Given the description of an element on the screen output the (x, y) to click on. 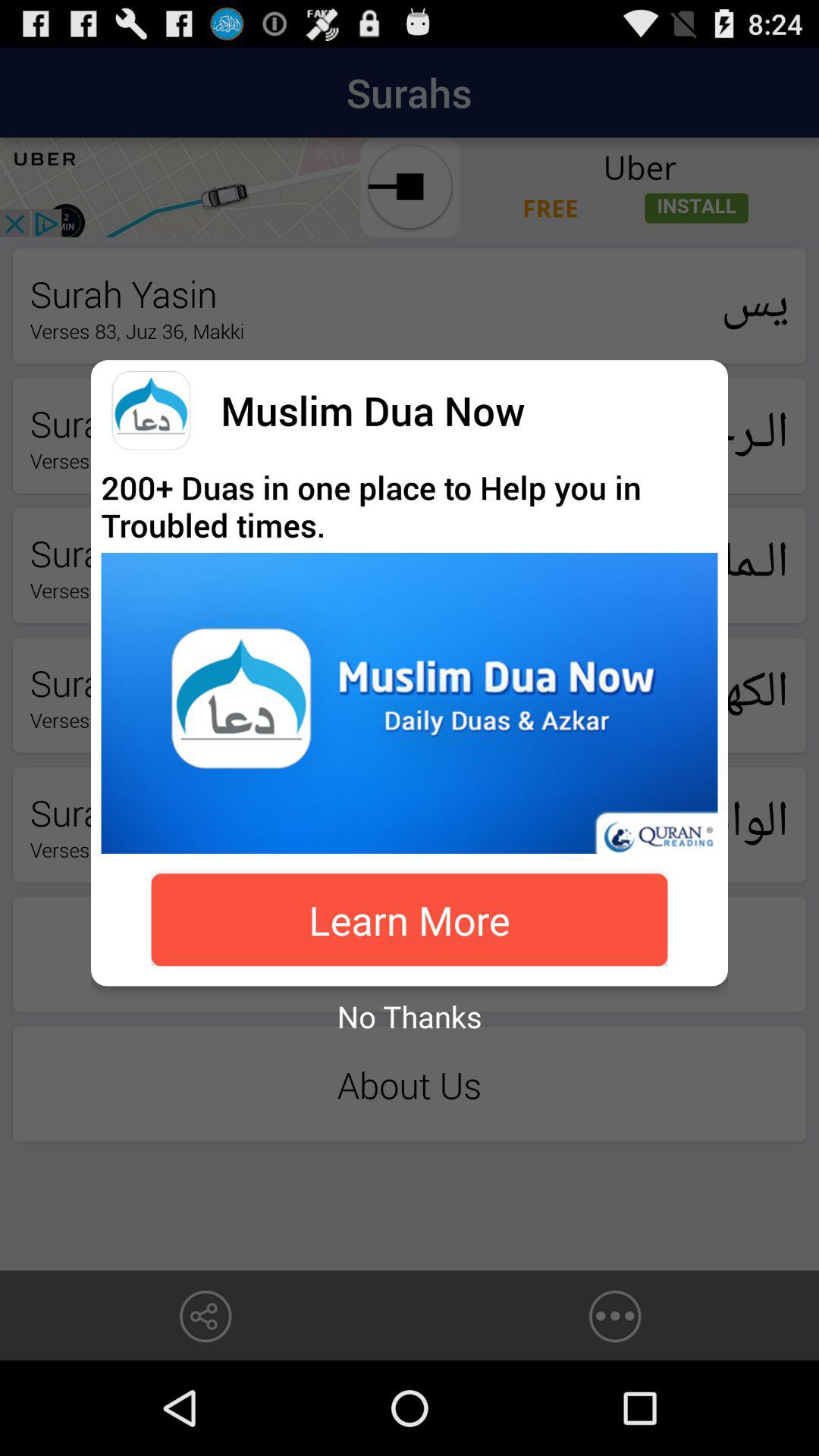
turn on the item below 200 duas in icon (409, 702)
